Given the description of an element on the screen output the (x, y) to click on. 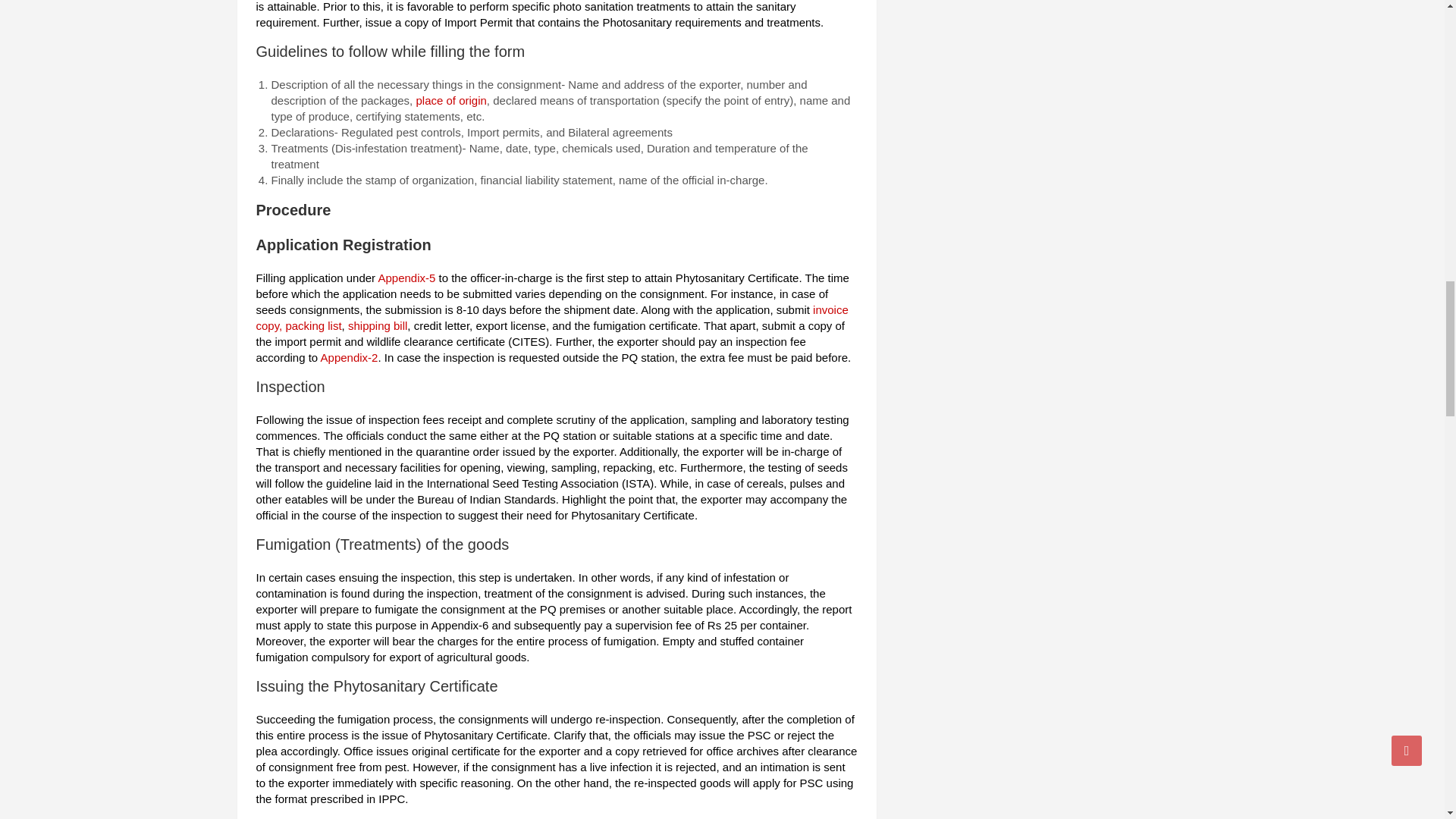
place of origin (450, 100)
